Given the description of an element on the screen output the (x, y) to click on. 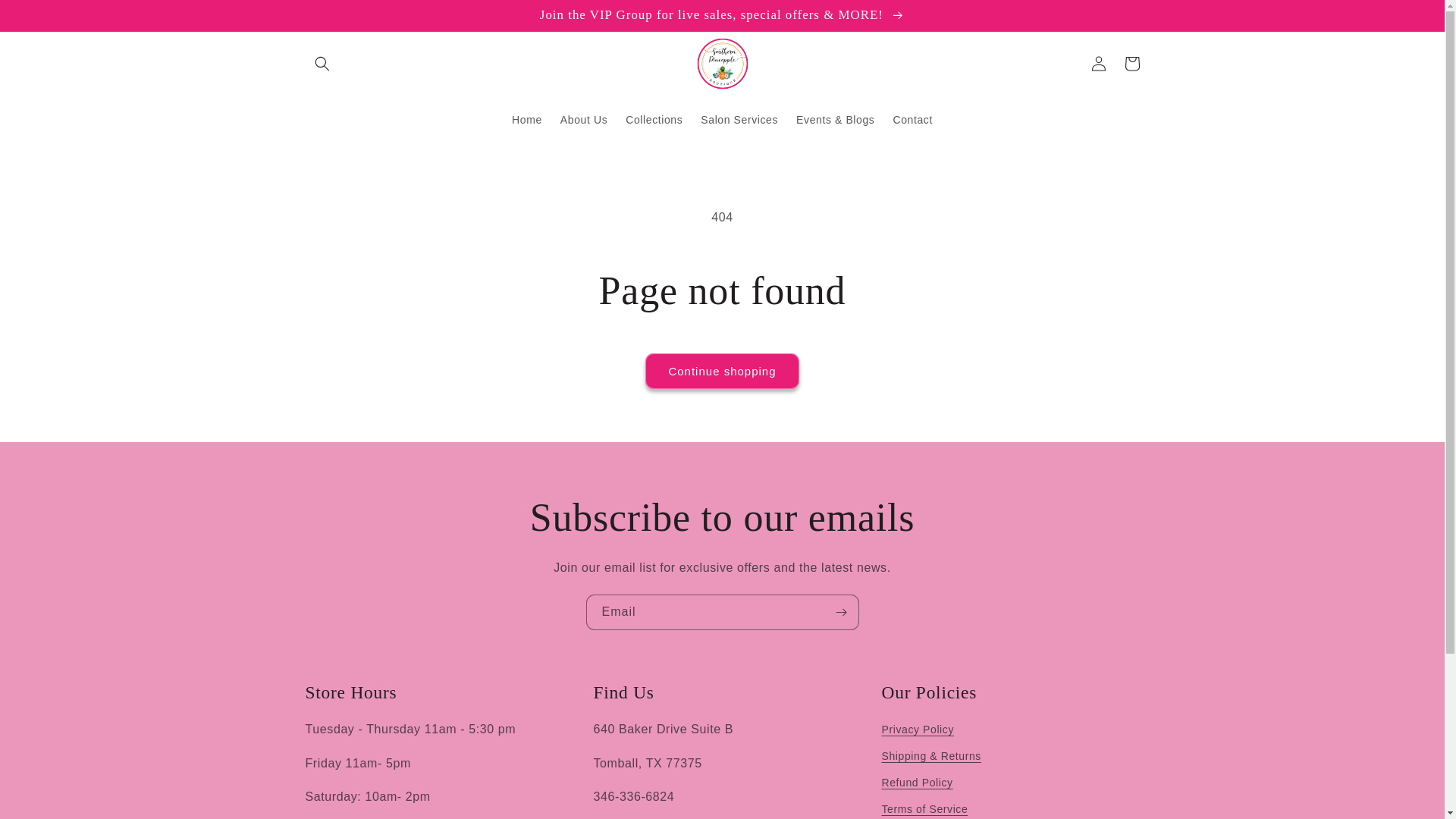
Continue shopping (721, 370)
Cart (1131, 63)
Collections (653, 119)
Privacy Policy (916, 731)
Skip to content (45, 17)
About Us (583, 119)
Contact (911, 119)
Salon Services (739, 119)
Refund Policy (916, 782)
Home (526, 119)
Log in (1098, 63)
Terms of Service (924, 807)
